Given the description of an element on the screen output the (x, y) to click on. 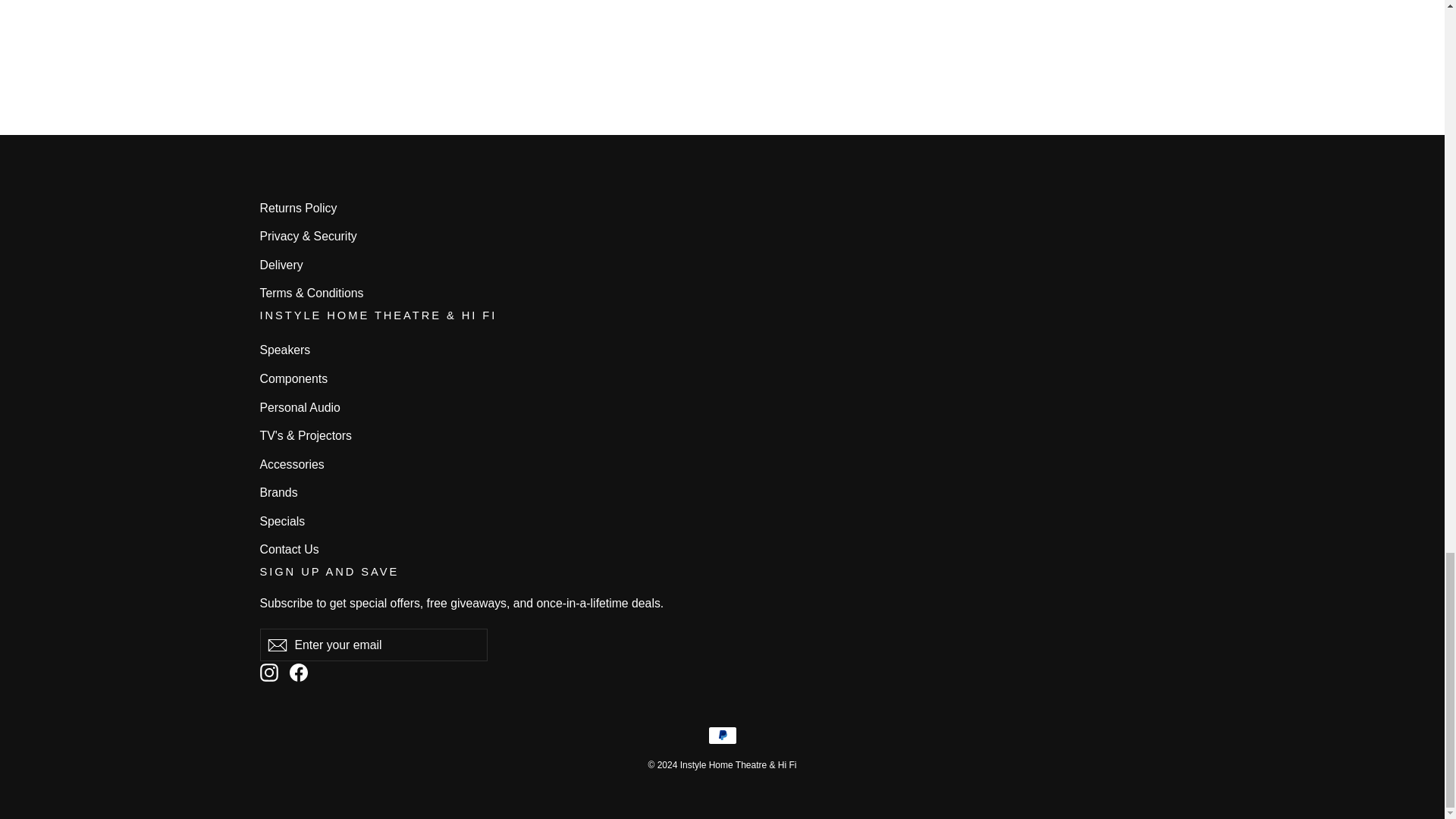
icon-email (276, 645)
PayPal (721, 735)
instagram (268, 672)
